Given the description of an element on the screen output the (x, y) to click on. 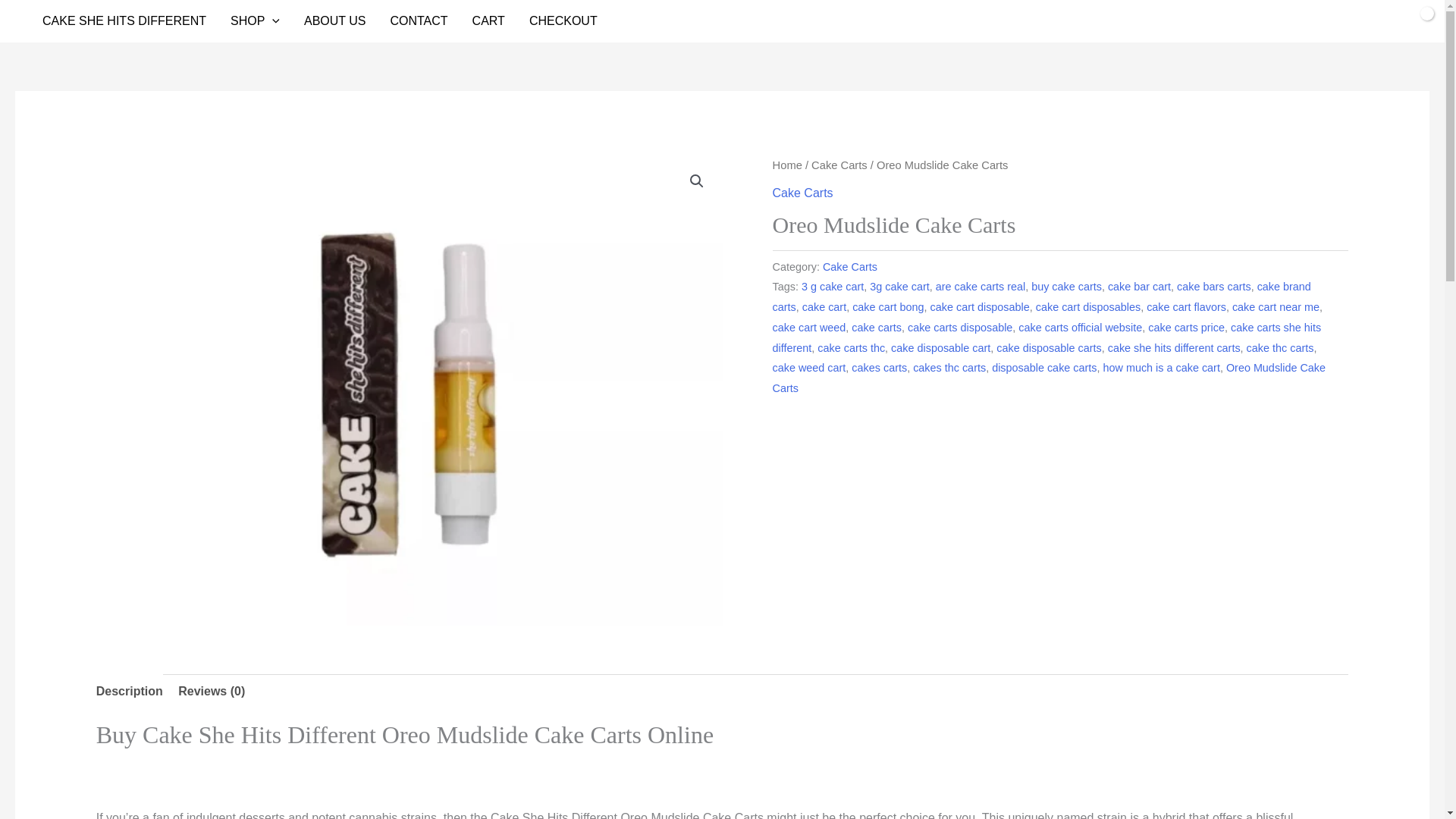
SHOP (255, 20)
cake cart disposable (979, 306)
CHECKOUT (563, 20)
ABOUT US (335, 20)
are cake carts real (980, 286)
Home (787, 164)
Cake Carts (849, 266)
CONTACT (418, 20)
Cake Carts (802, 192)
Cake Carts (838, 164)
3 g cake cart (832, 286)
cake bars carts (1213, 286)
cake brand carts (1042, 296)
cake cart (823, 306)
